Given the description of an element on the screen output the (x, y) to click on. 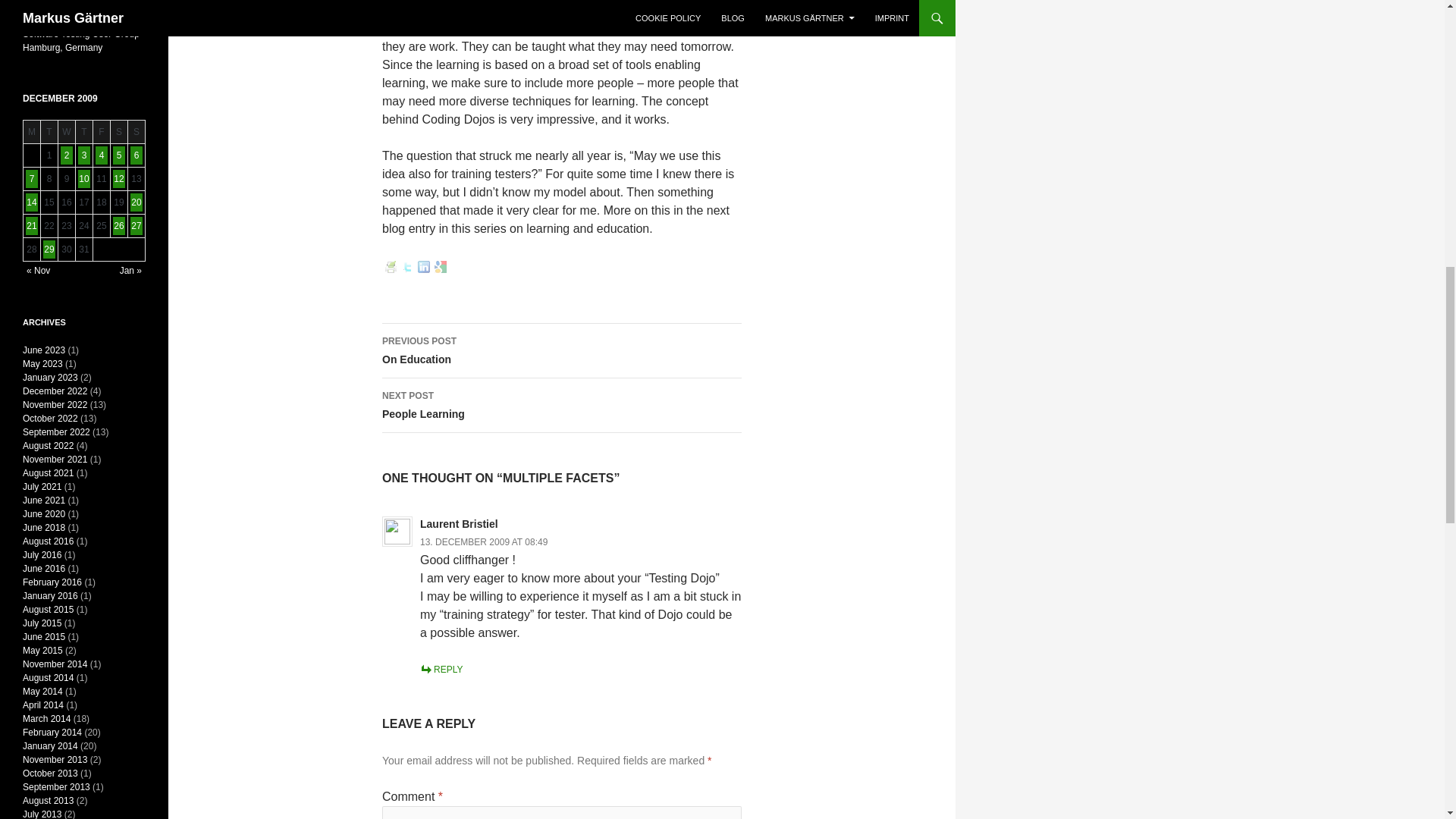
Print (389, 266)
Twitter (406, 266)
REPLY (441, 669)
13. DECEMBER 2009 AT 08:49 (561, 350)
LinkedIn (483, 542)
Google Bookmarks (423, 266)
